Given the description of an element on the screen output the (x, y) to click on. 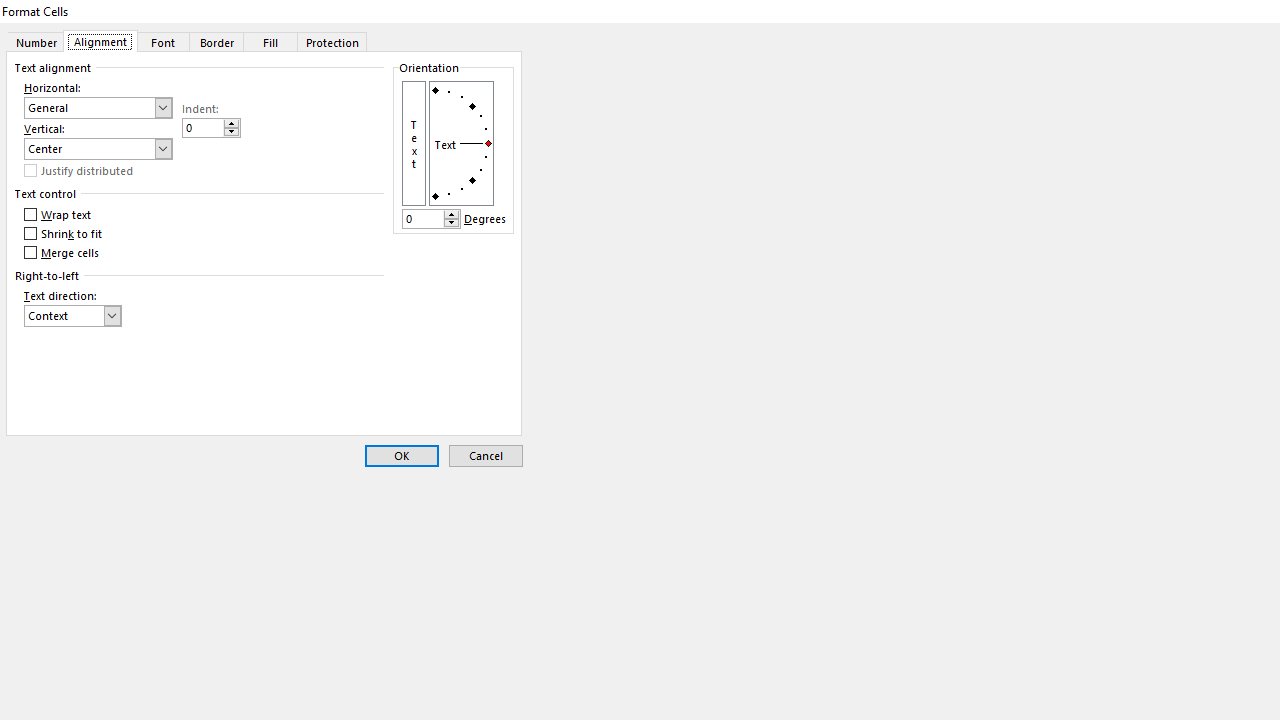
Number (35, 41)
Cancel (485, 456)
Vertical Text (413, 142)
Orientation (461, 142)
